Given the description of an element on the screen output the (x, y) to click on. 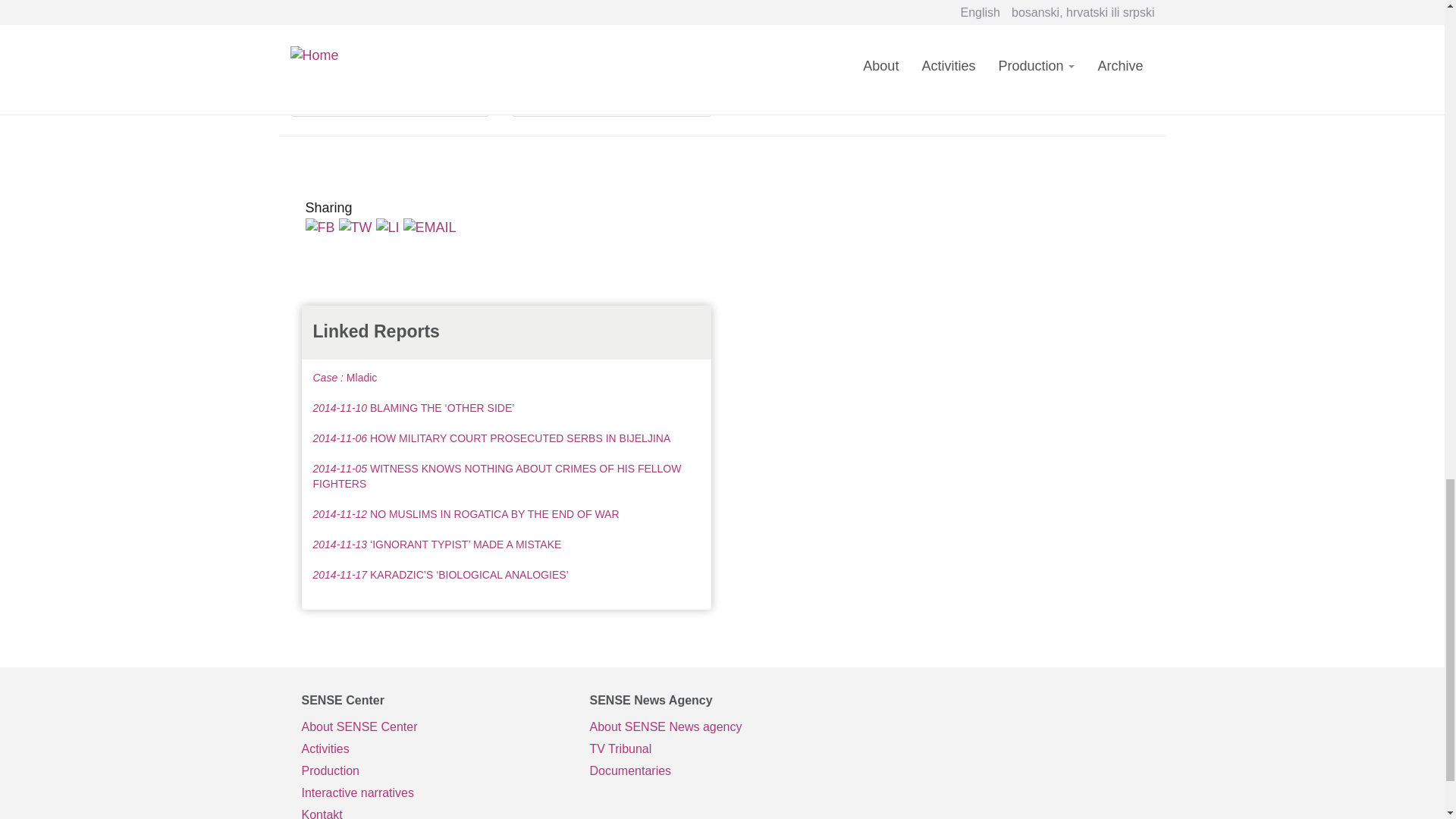
About SENSE News agency (721, 727)
Production (434, 771)
Trifko Komad, defence witness at Rako Mladic trial (390, 56)
2014-11-06 HOW MILITARY COURT PROSECUTED SERBS IN BIJELJINA (491, 438)
Interactive narratives (434, 793)
About SENSE Center (434, 727)
Cedo Sipovac, defence witness at Rako Mladic trial (611, 56)
Case : Mladic (345, 377)
TV Tribunal (721, 749)
In Bosnian, Croatian or Serbian langauge (721, 749)
Documentaries (721, 771)
2014-11-12 NO MUSLIMS IN ROGATICA BY THE END OF WAR (465, 513)
Activities (434, 749)
